Given the description of an element on the screen output the (x, y) to click on. 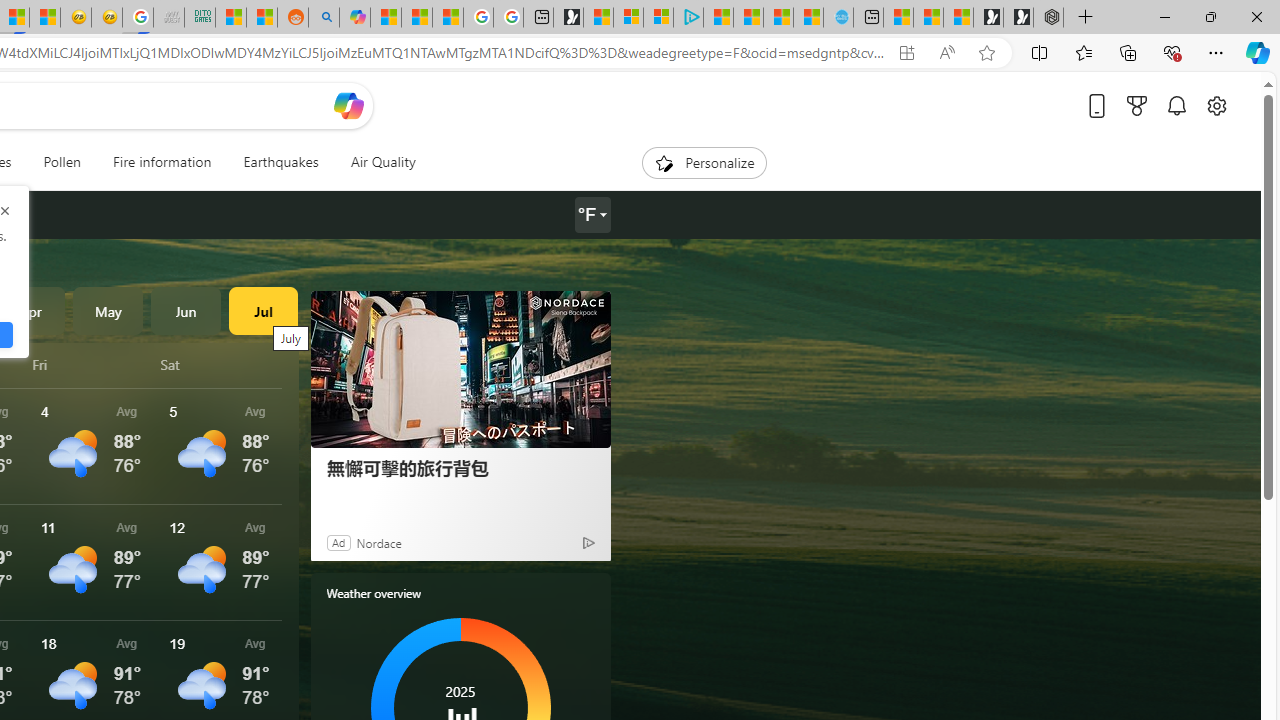
Earthquakes (280, 162)
App available. Install Microsoft Start Weather (906, 53)
Pollen (61, 162)
DITOGAMES AG Imprint (200, 17)
